Given the description of an element on the screen output the (x, y) to click on. 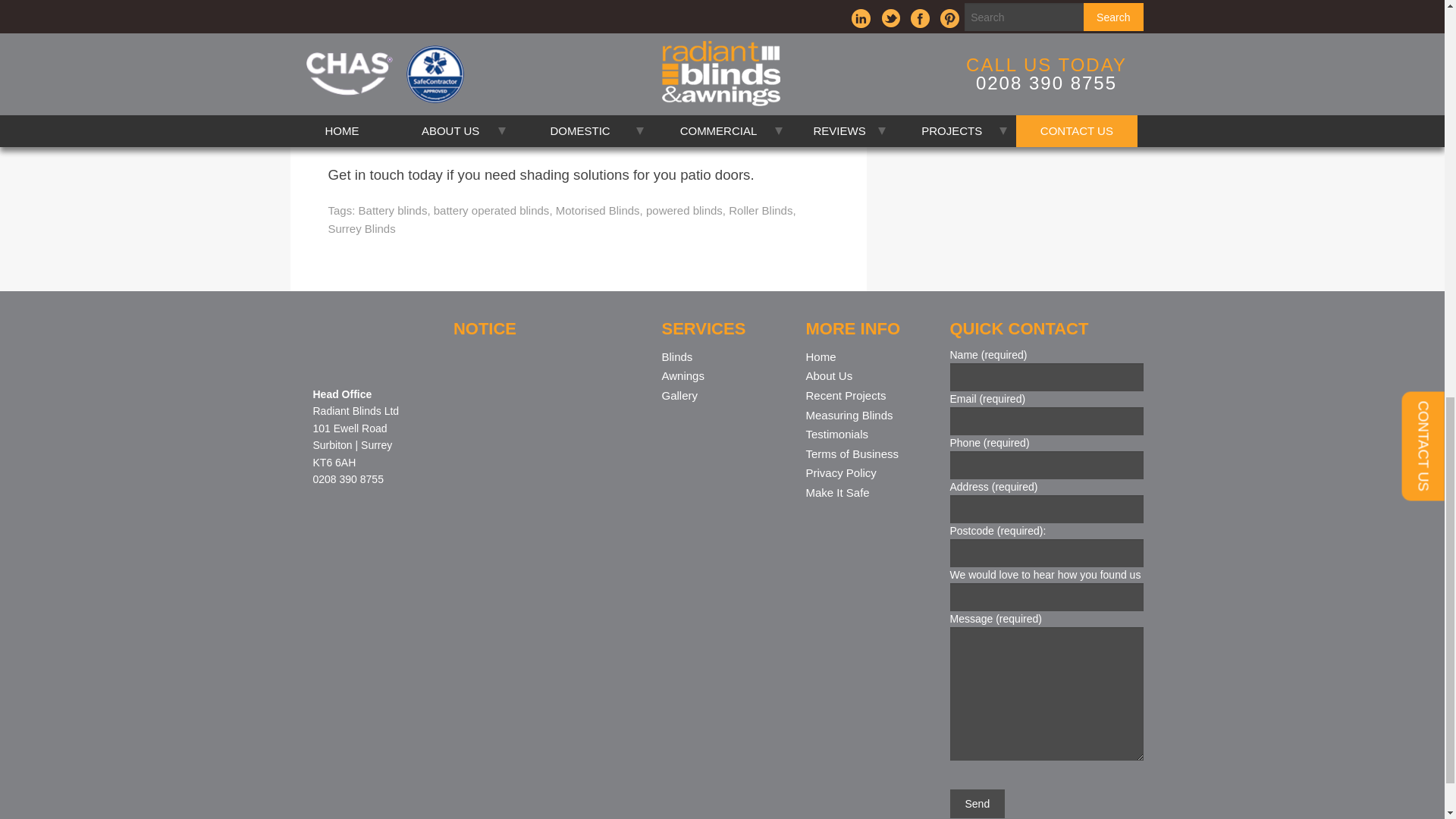
Send (976, 803)
